Given the description of an element on the screen output the (x, y) to click on. 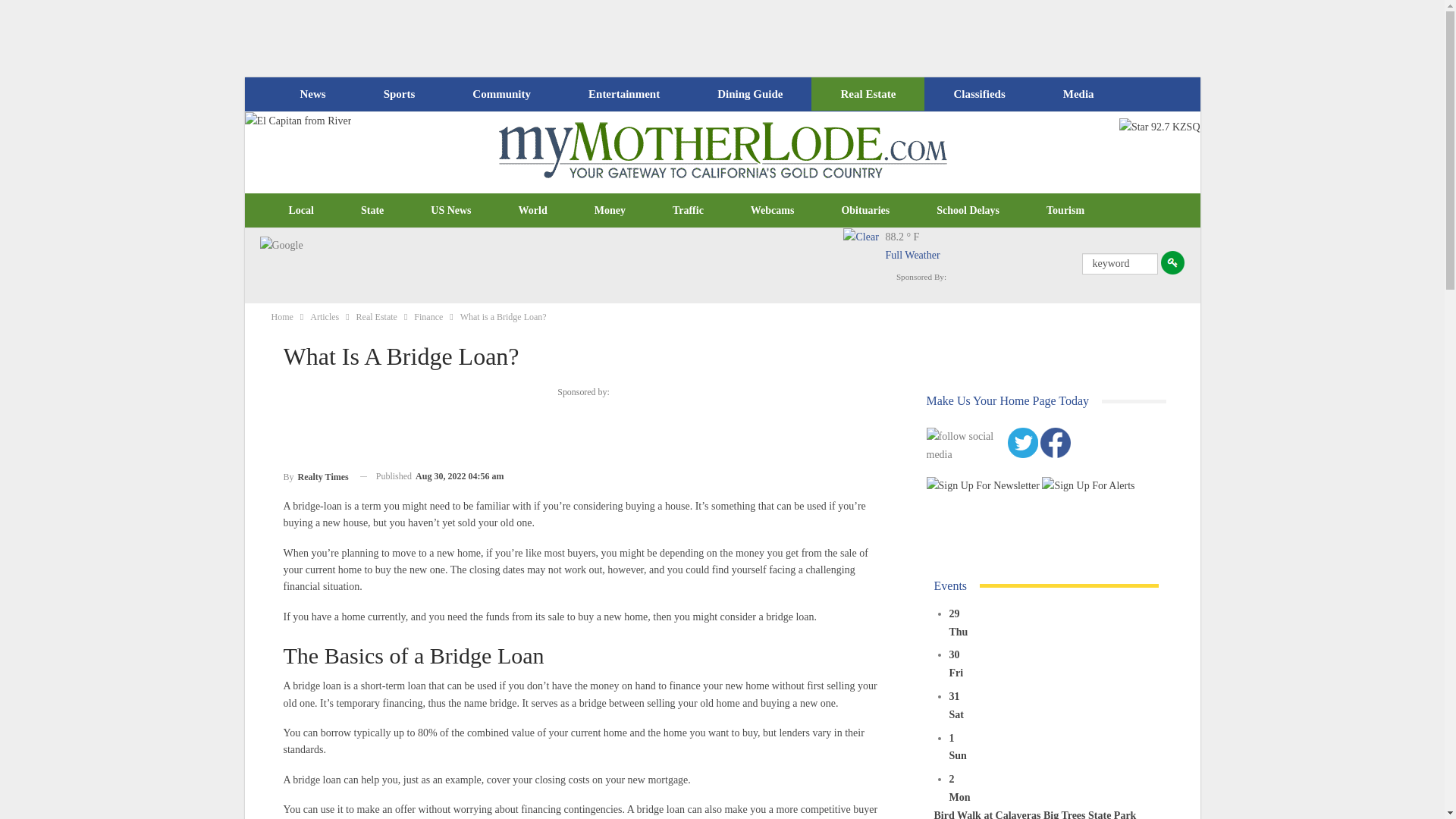
US News (451, 210)
Real Estate (868, 93)
Classifieds (979, 93)
Tourism (1065, 210)
Webcams (772, 210)
Money (609, 210)
World (532, 210)
State (372, 210)
Submit (1172, 262)
